Given the description of an element on the screen output the (x, y) to click on. 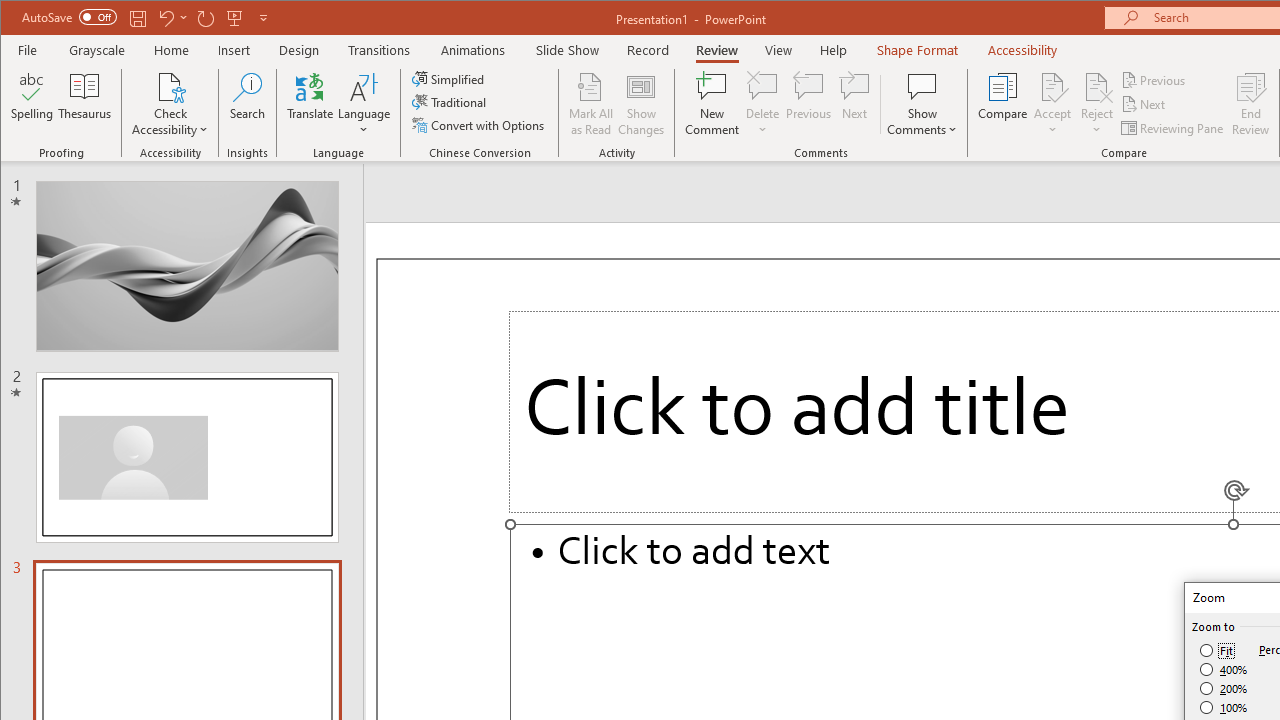
Accept (1052, 104)
100% (1224, 707)
Simplified (450, 78)
400% (1224, 669)
Accept Change (1052, 86)
Traditional (450, 101)
